Given the description of an element on the screen output the (x, y) to click on. 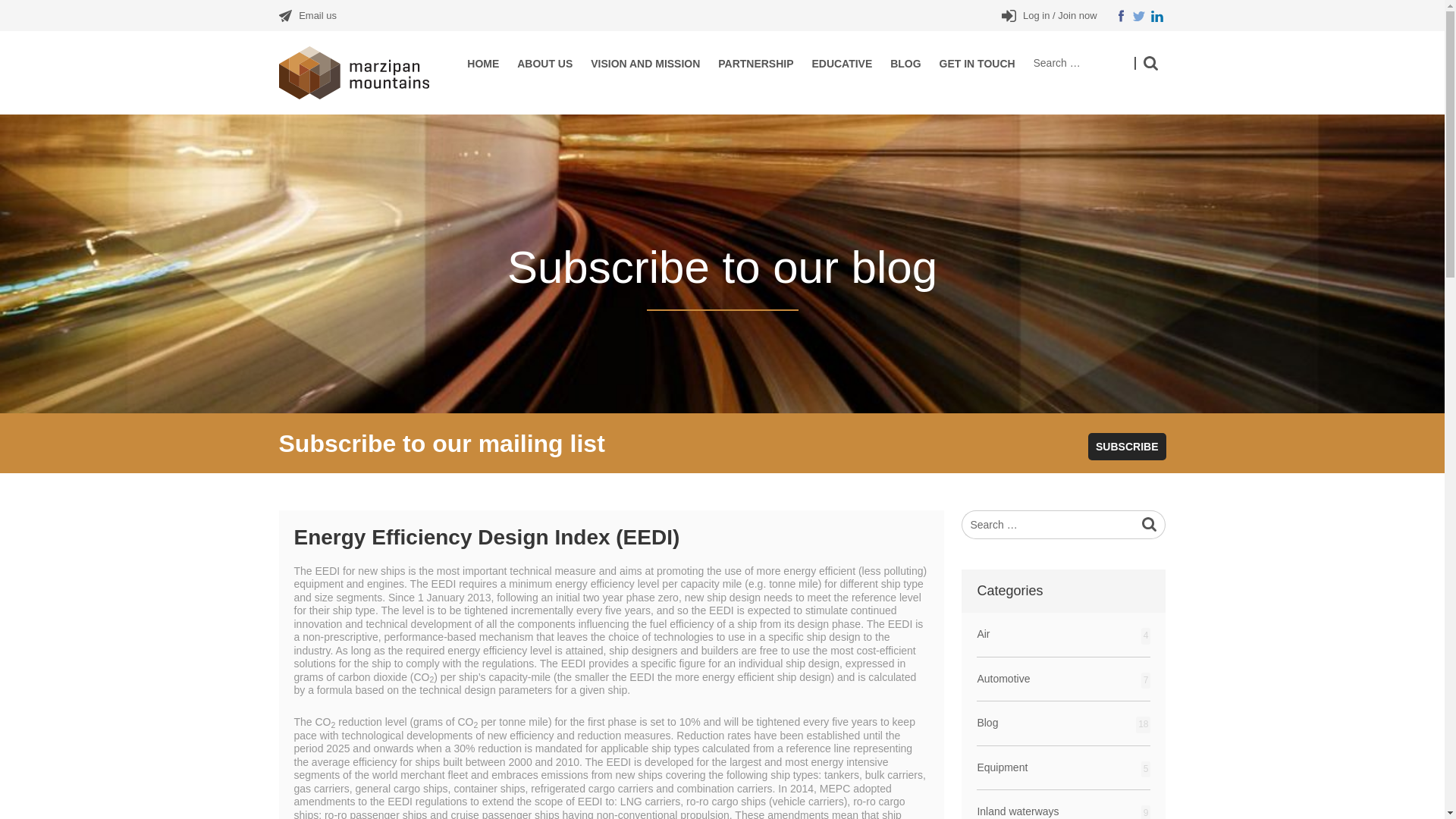
GET IN TOUCH (976, 62)
Email us (317, 15)
VISION AND MISSION (645, 62)
HOME (483, 62)
Marzipan Mountains (363, 72)
EDUCATIVE (841, 62)
ABOUT US (544, 62)
PARTNERSHIP (755, 62)
Search (1150, 63)
SUBSCRIBE (1126, 446)
